Given the description of an element on the screen output the (x, y) to click on. 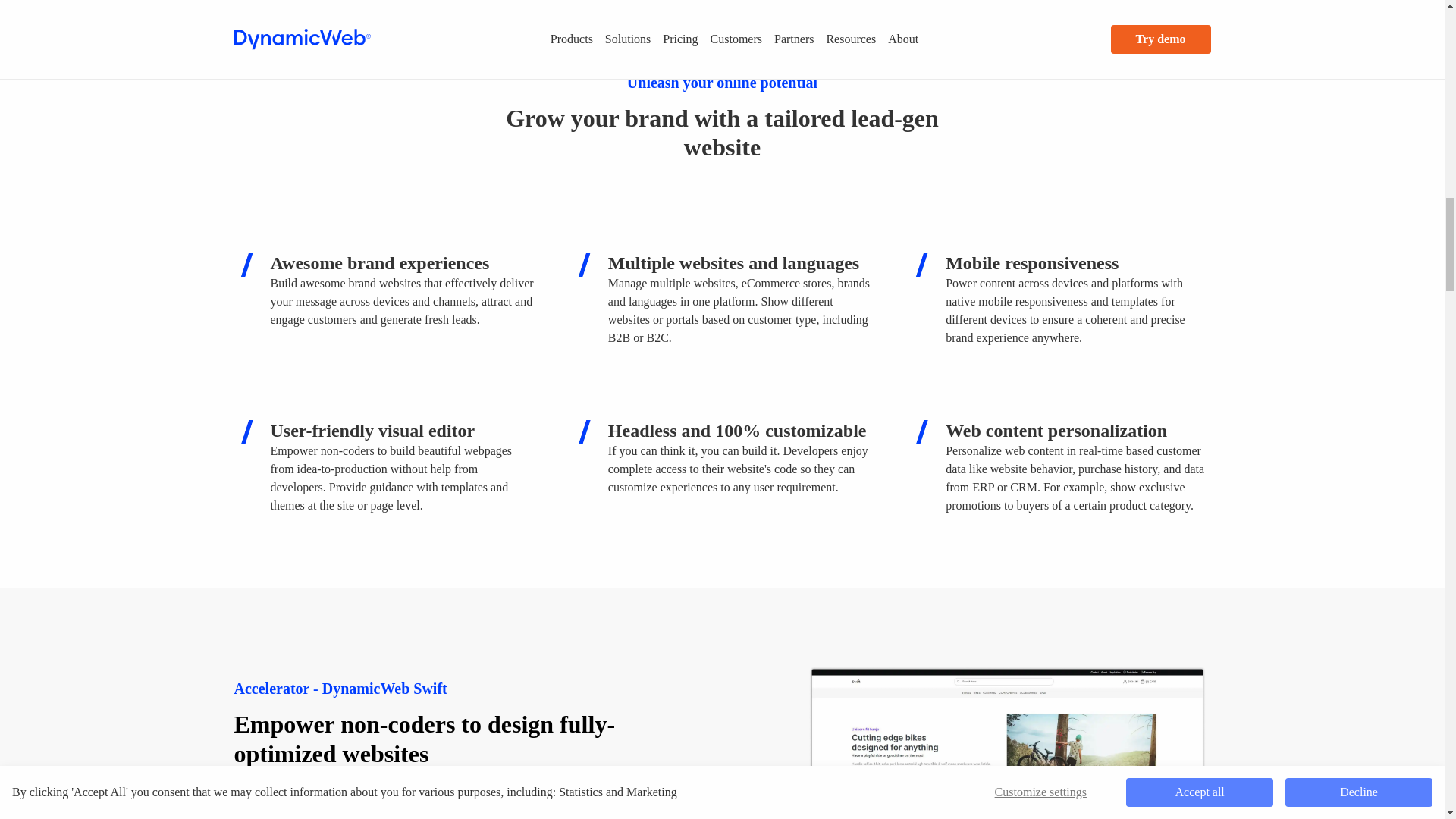
Multiple websites and languages (583, 264)
Web content personalization (920, 432)
Mobile responsiveness (920, 264)
Awesome brand experiences (244, 264)
User-friendly visual editor (244, 432)
